Given the description of an element on the screen output the (x, y) to click on. 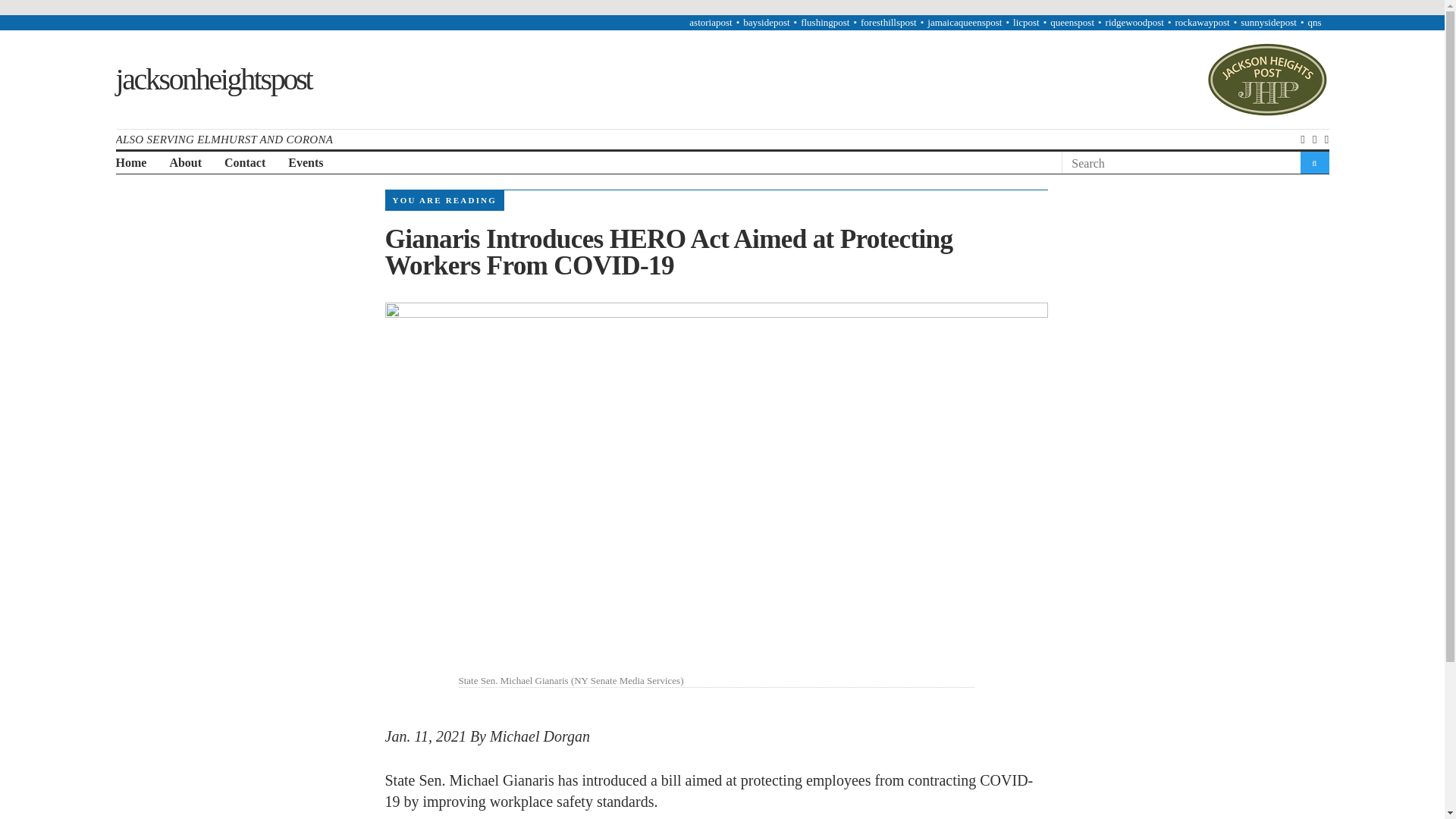
Events (305, 163)
sunnysidepost (1268, 21)
flushingpost (824, 21)
About (185, 163)
jacksonheightspost (213, 79)
foresthillspost (888, 21)
ridgewoodpost (1134, 21)
qns (1313, 21)
Contact (244, 163)
rockawaypost (1201, 21)
